Given the description of an element on the screen output the (x, y) to click on. 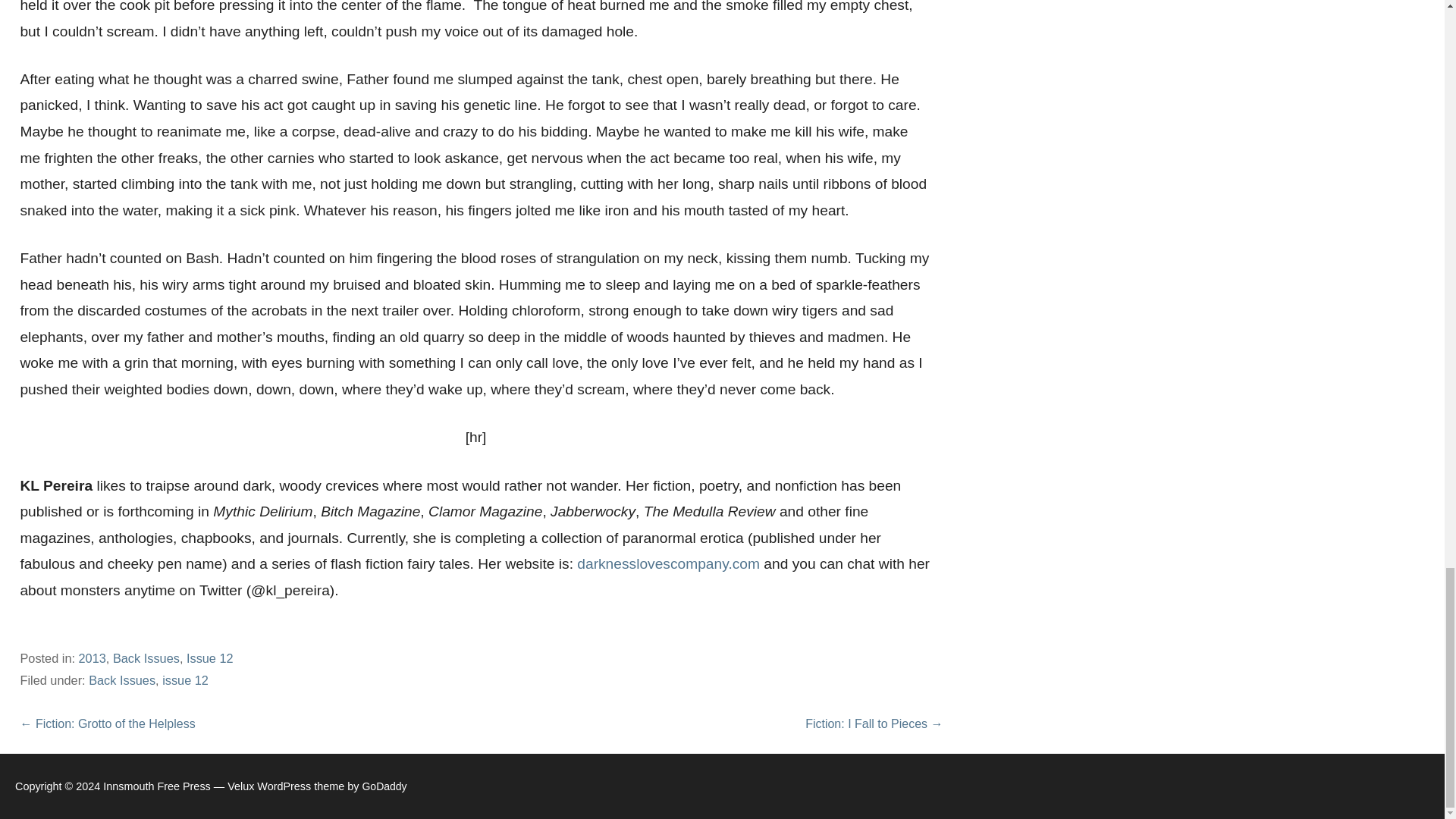
darknesslovescompany.com (668, 563)
Issue 12 (209, 658)
GoDaddy (383, 786)
Back Issues (146, 658)
2013 (92, 658)
issue 12 (184, 680)
Back Issues (121, 680)
